Given the description of an element on the screen output the (x, y) to click on. 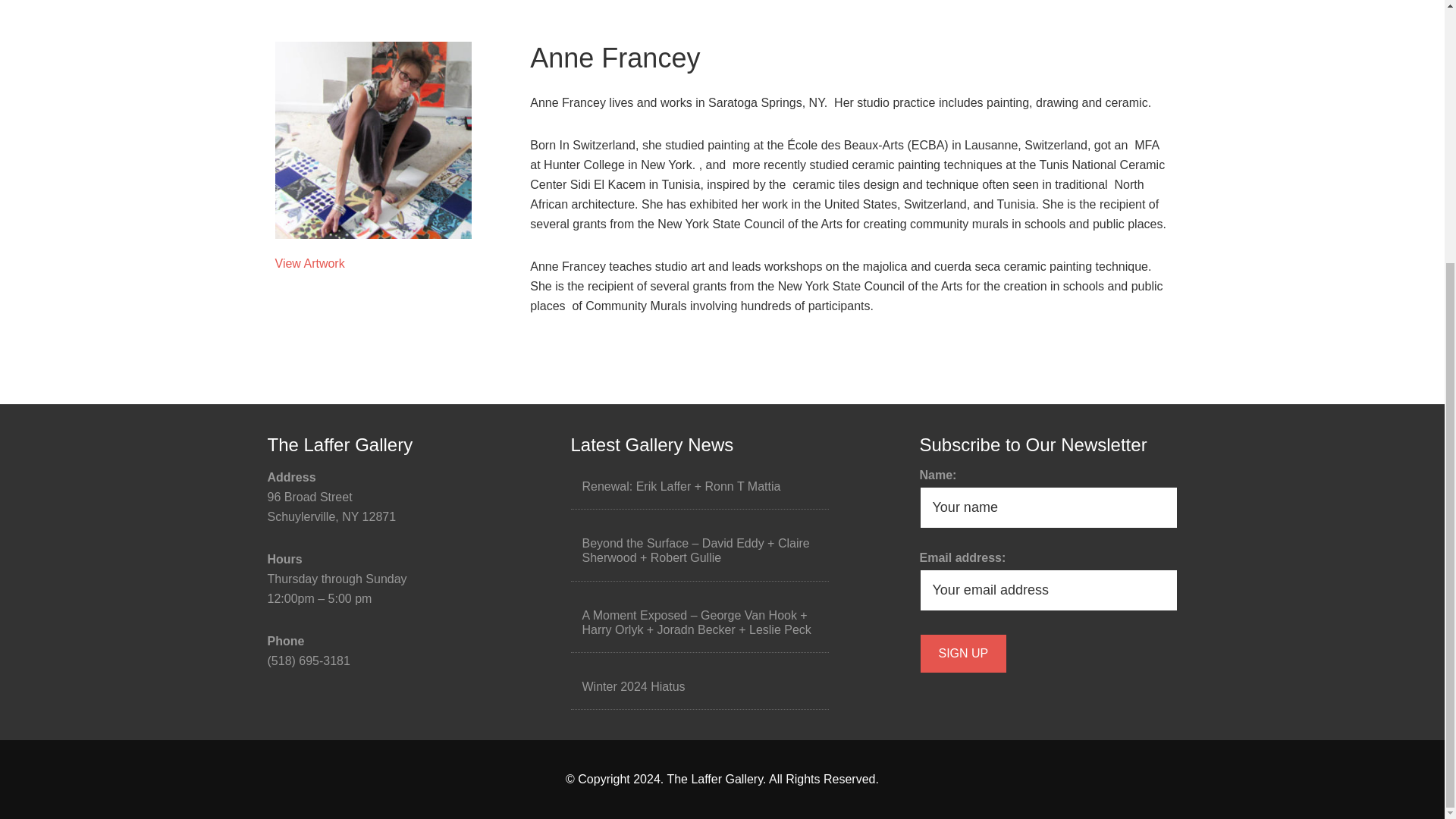
Sign up (962, 653)
Winter 2024 Hiatus (633, 686)
Sign up (962, 653)
View Artwork (309, 263)
